Given the description of an element on the screen output the (x, y) to click on. 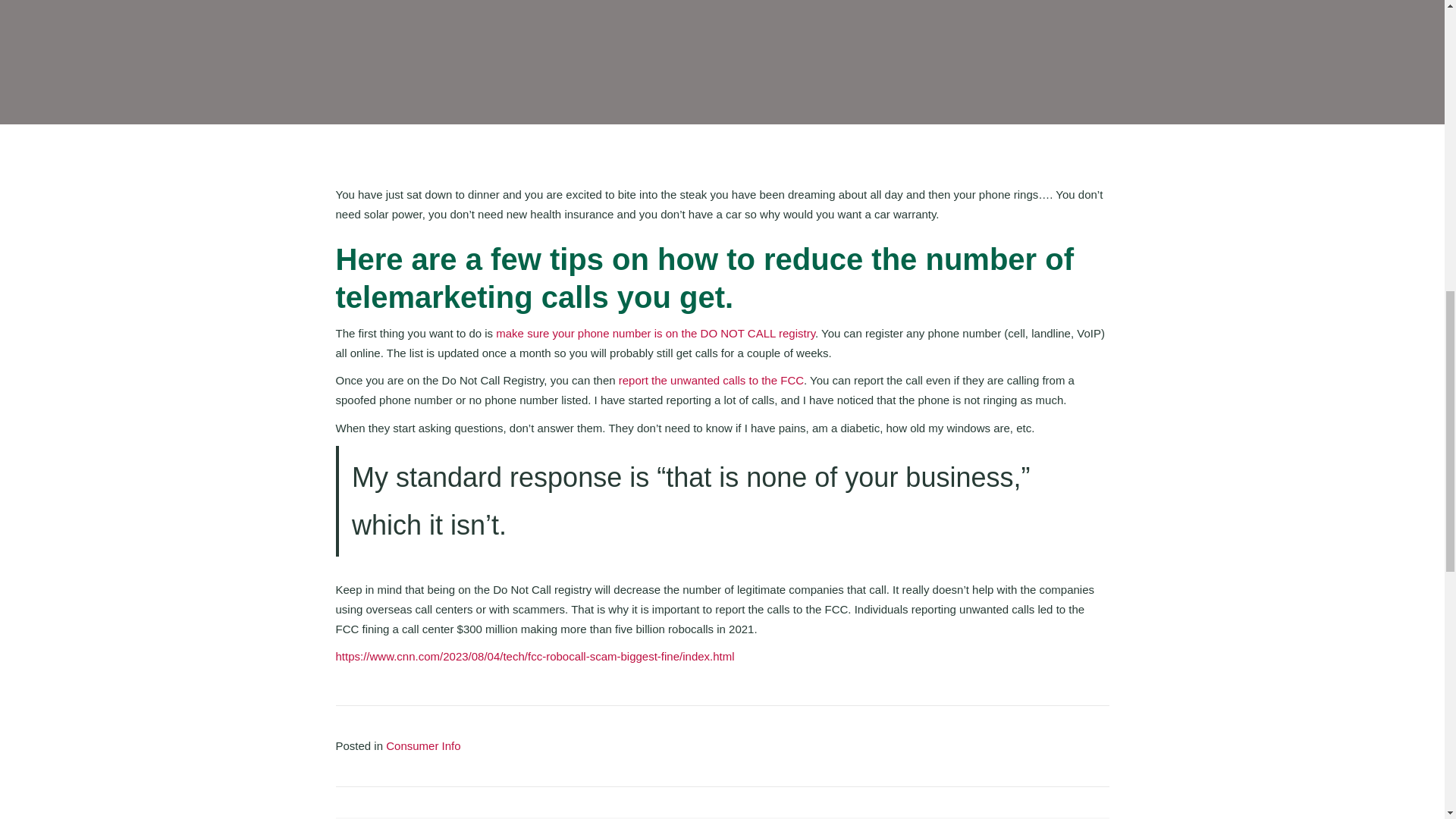
Consumer Info (422, 745)
report the unwanted calls to the FCC (710, 379)
make sure your phone number is on the DO NOT CALL registry (655, 332)
